Given the description of an element on the screen output the (x, y) to click on. 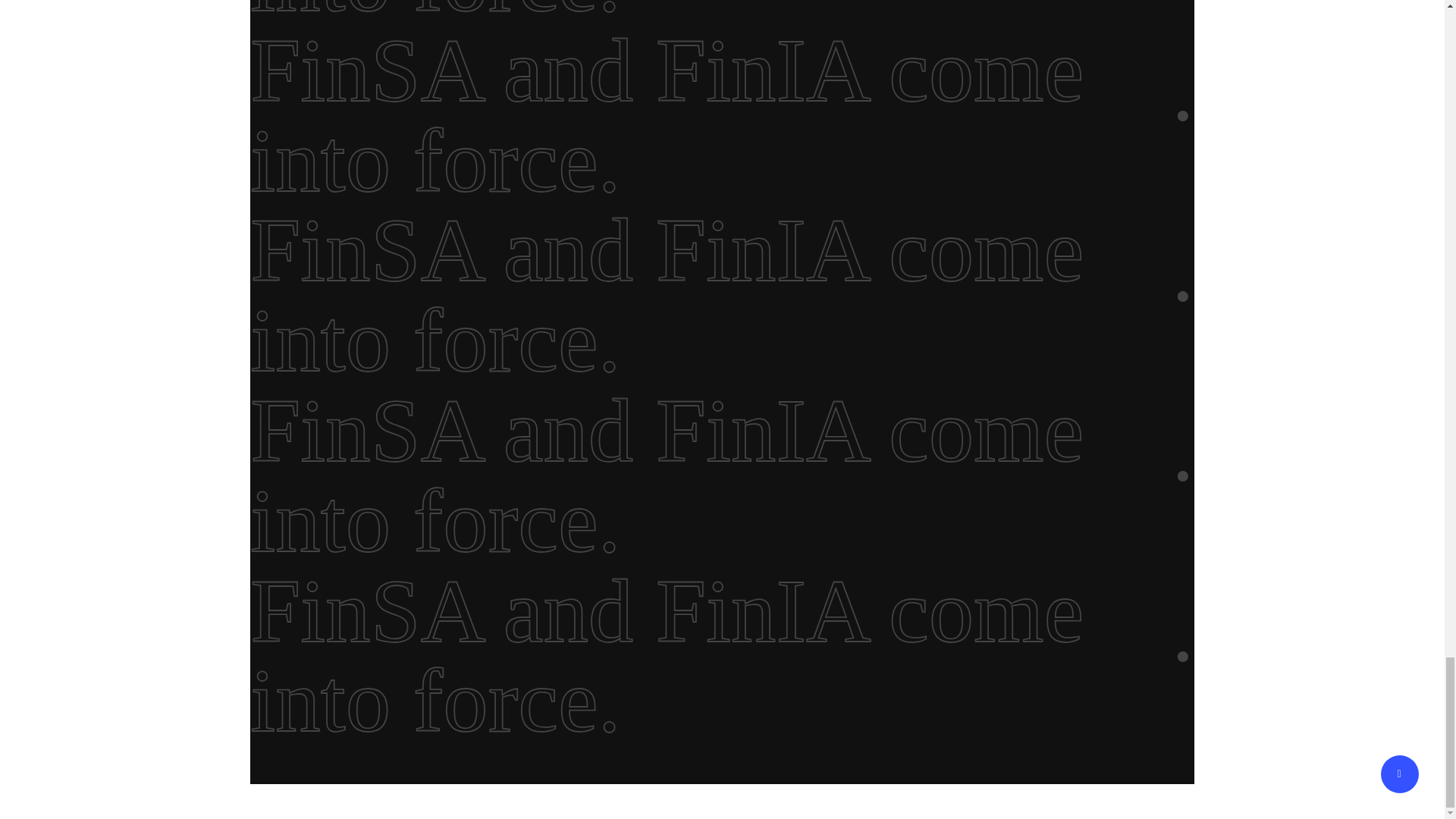
FinSA and FinIA come into force. (711, 12)
